Given the description of an element on the screen output the (x, y) to click on. 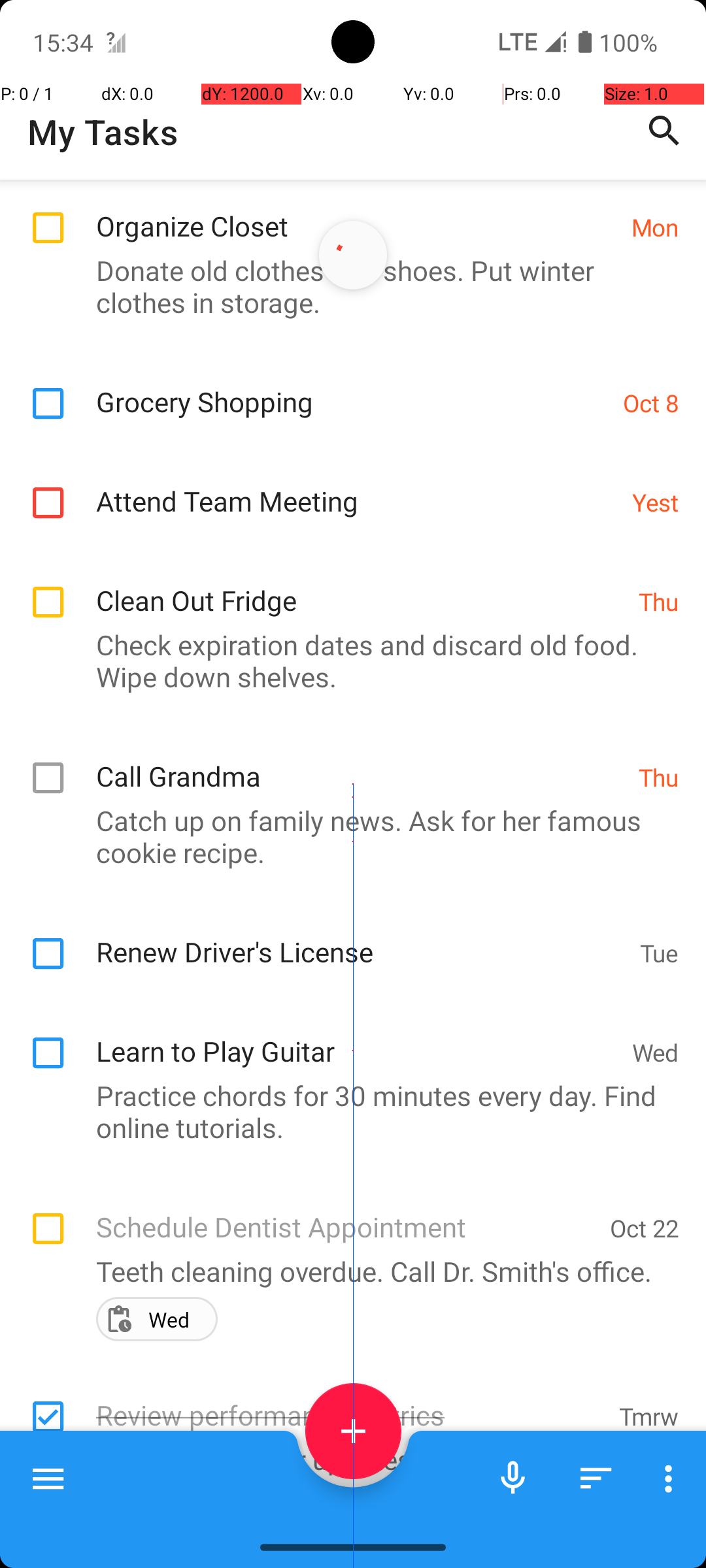
Donate old clothes and shoes. Put winter clothes in storage. Element type: android.widget.TextView (346, 285)
Oct 8 Element type: android.widget.TextView (650, 402)
Check expiration dates and discard old food. Wipe down shelves. Element type: android.widget.TextView (346, 660)
Catch up on family news. Ask for her famous cookie recipe. Element type: android.widget.TextView (346, 835)
Practice chords for 30 minutes every day. Find online tutorials. Element type: android.widget.TextView (346, 1110)
Teeth cleaning overdue. Call Dr. Smith's office. Element type: android.widget.TextView (346, 1270)
Oct 22 Element type: android.widget.TextView (644, 1227)
Review performance metrics Element type: android.widget.TextView (350, 1400)
Monitor email for updates on this. Element type: android.widget.TextView (346, 1458)
Attend training session Element type: android.widget.TextView (350, 1519)
